Given the description of an element on the screen output the (x, y) to click on. 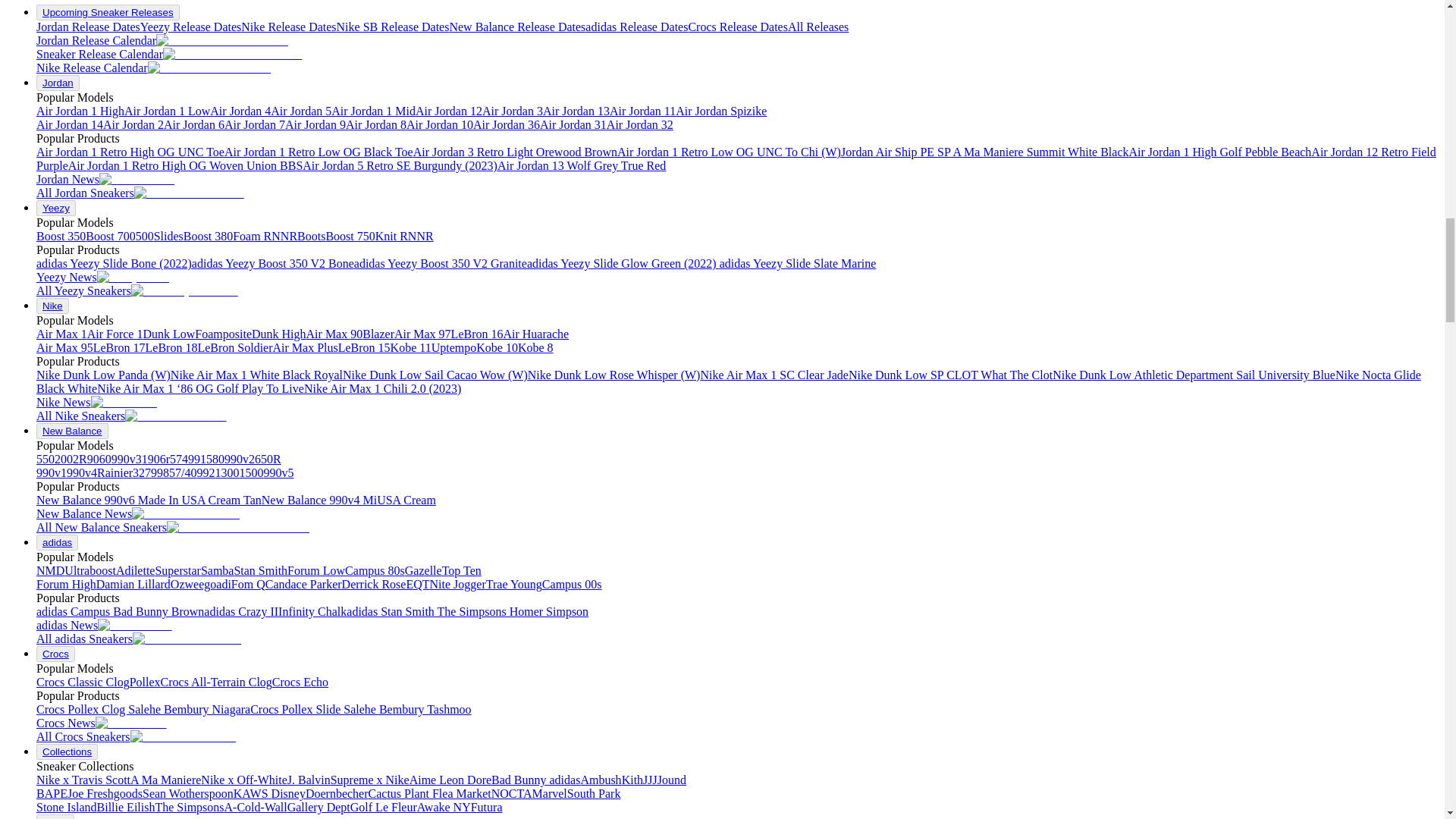
Air Jordan 2 (133, 124)
All Releases (817, 26)
Air Jordan Spizike (721, 110)
Air Jordan 3 (512, 110)
Air Jordan 7 (254, 124)
Air Jordan 10 (439, 124)
Jordan Release Calendar (162, 40)
Jordan (58, 82)
Air Jordan 11 (642, 110)
Air Jordan 8 (376, 124)
